Given the description of an element on the screen output the (x, y) to click on. 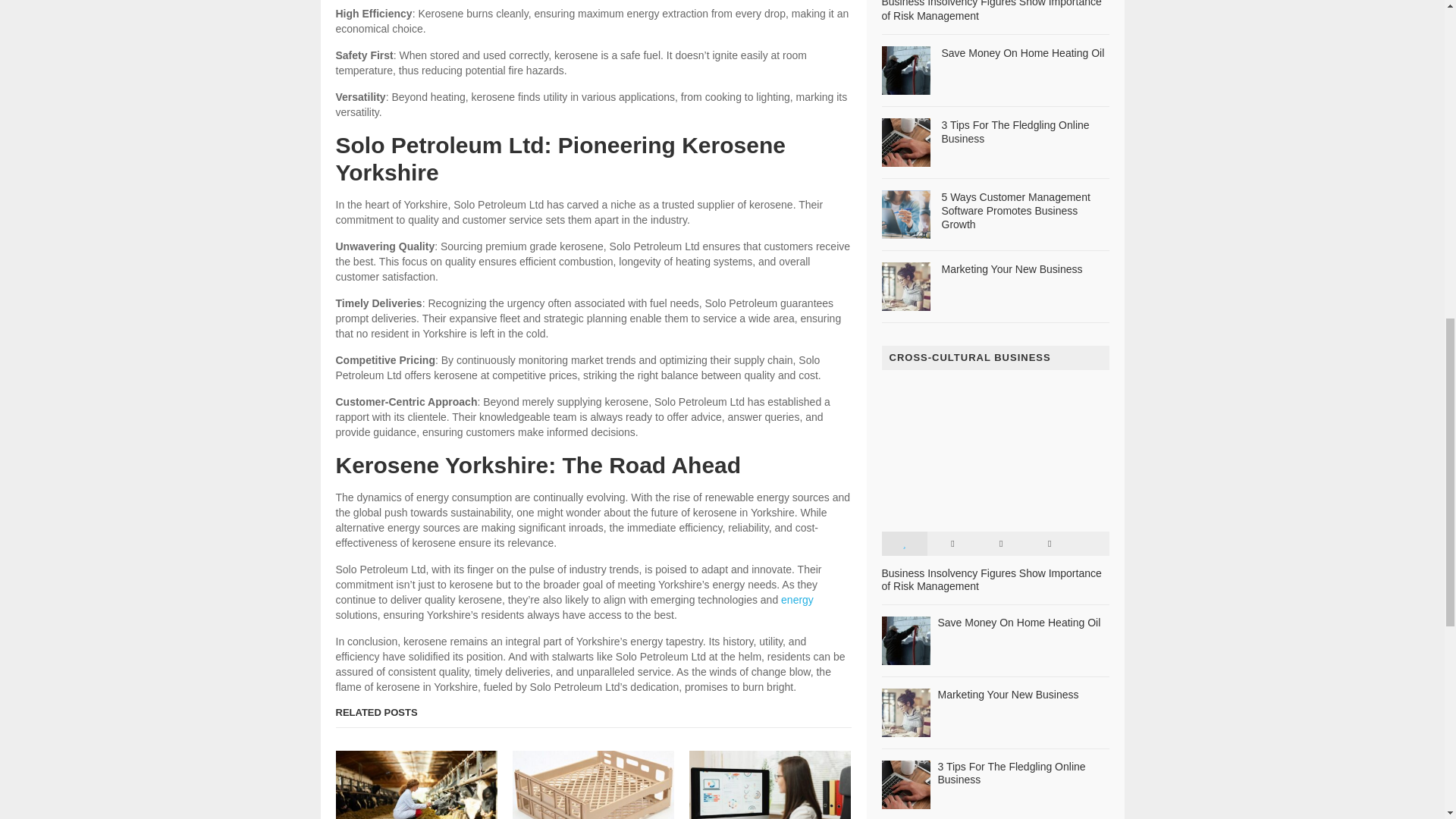
Comments (1000, 543)
Latest (952, 543)
Popular (903, 543)
Tags (1048, 543)
